Given the description of an element on the screen output the (x, y) to click on. 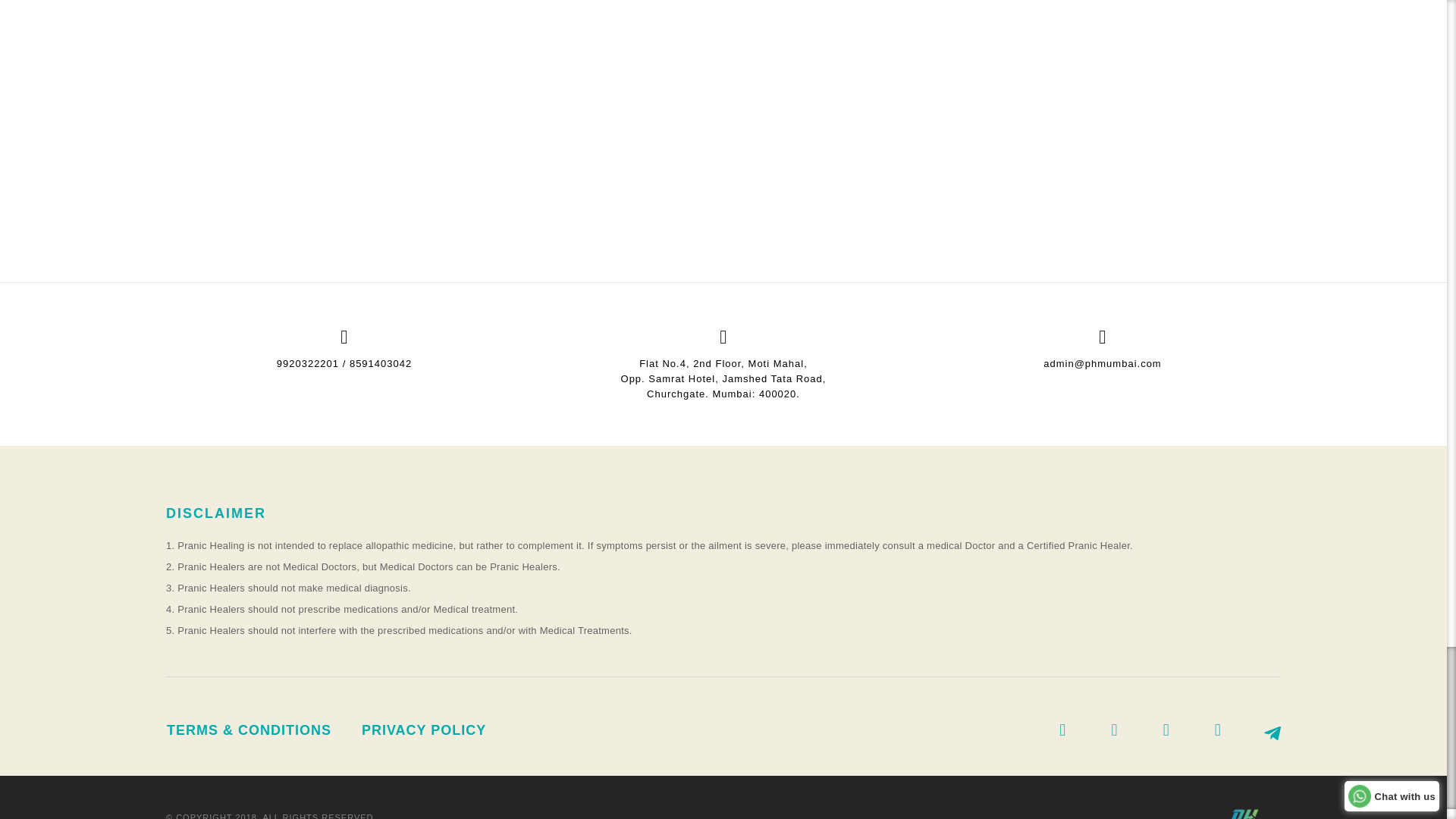
PRIVACY POLICY (423, 729)
8591403042 (380, 363)
9920322201 (307, 363)
